Given the description of an element on the screen output the (x, y) to click on. 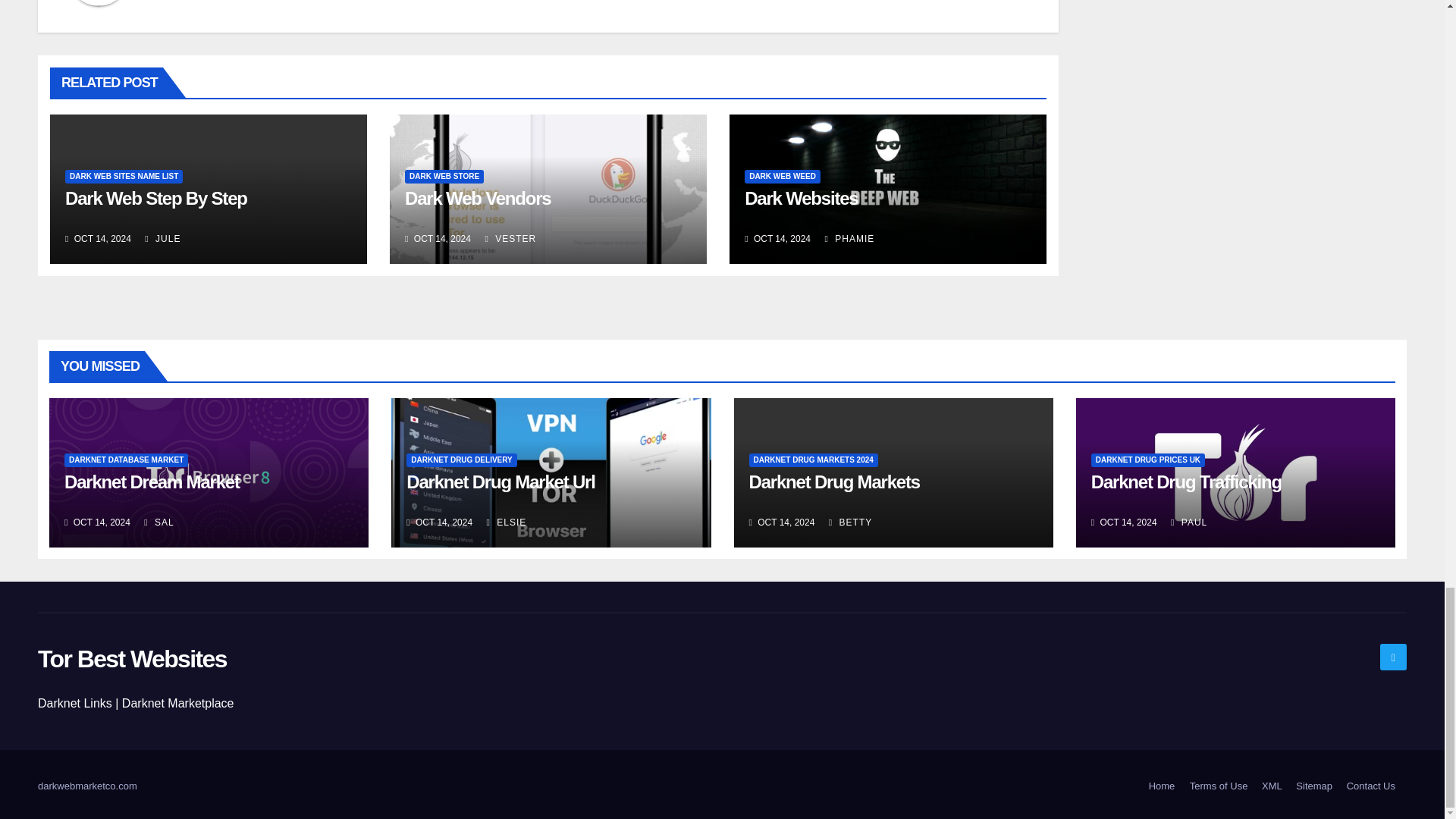
Permalink to: Dark Websites Reddit (800, 198)
Permalink to: Dark Web Sites (156, 198)
Permalink to: Dark Web Uk (477, 198)
